Given the description of an element on the screen output the (x, y) to click on. 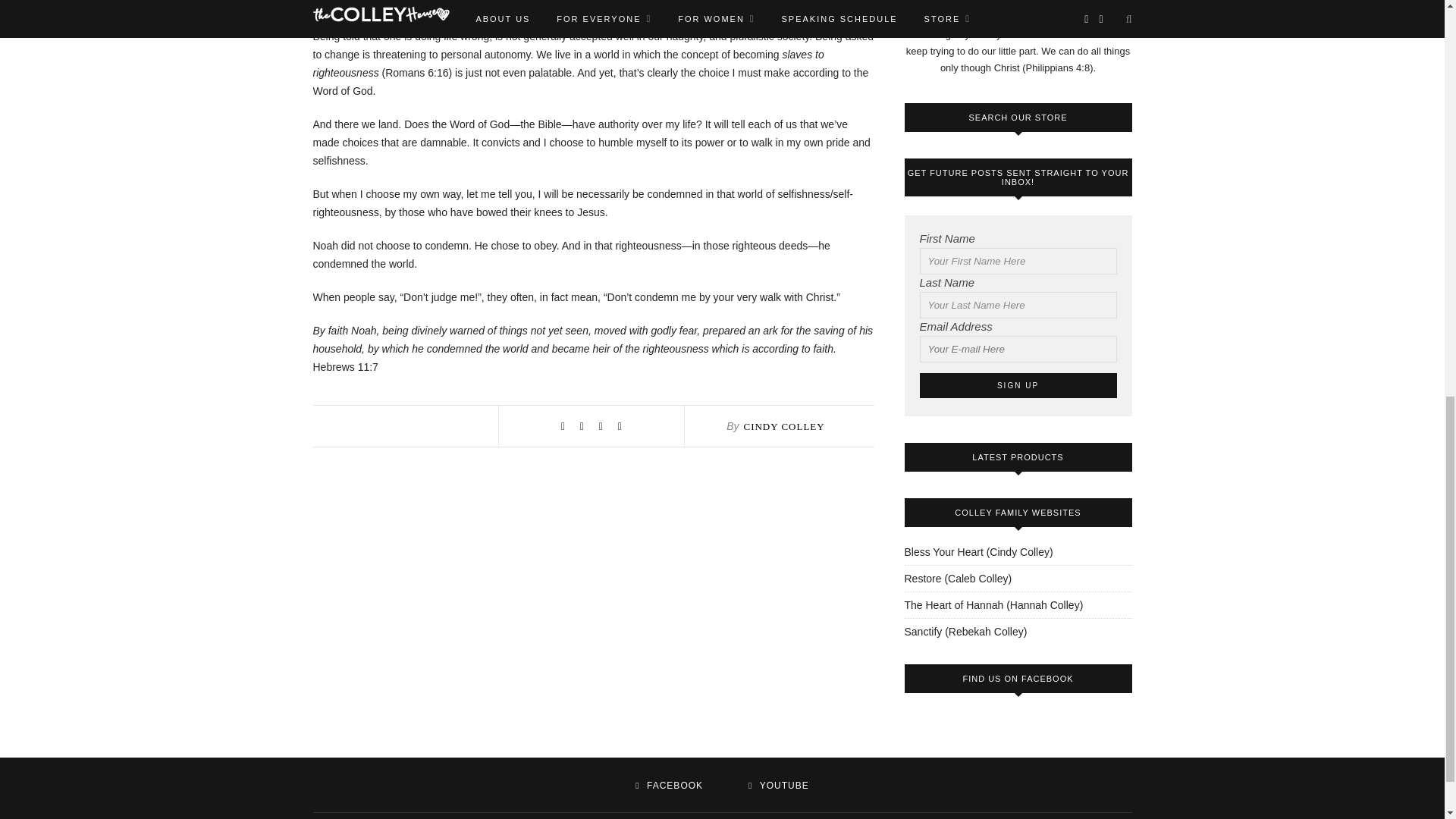
Posts by Cindy Colley (783, 426)
Sign up (1017, 385)
Your Last Name Here (1017, 304)
Your First Name Here (1017, 261)
Sign up (1017, 385)
CINDY COLLEY (783, 426)
